Given the description of an element on the screen output the (x, y) to click on. 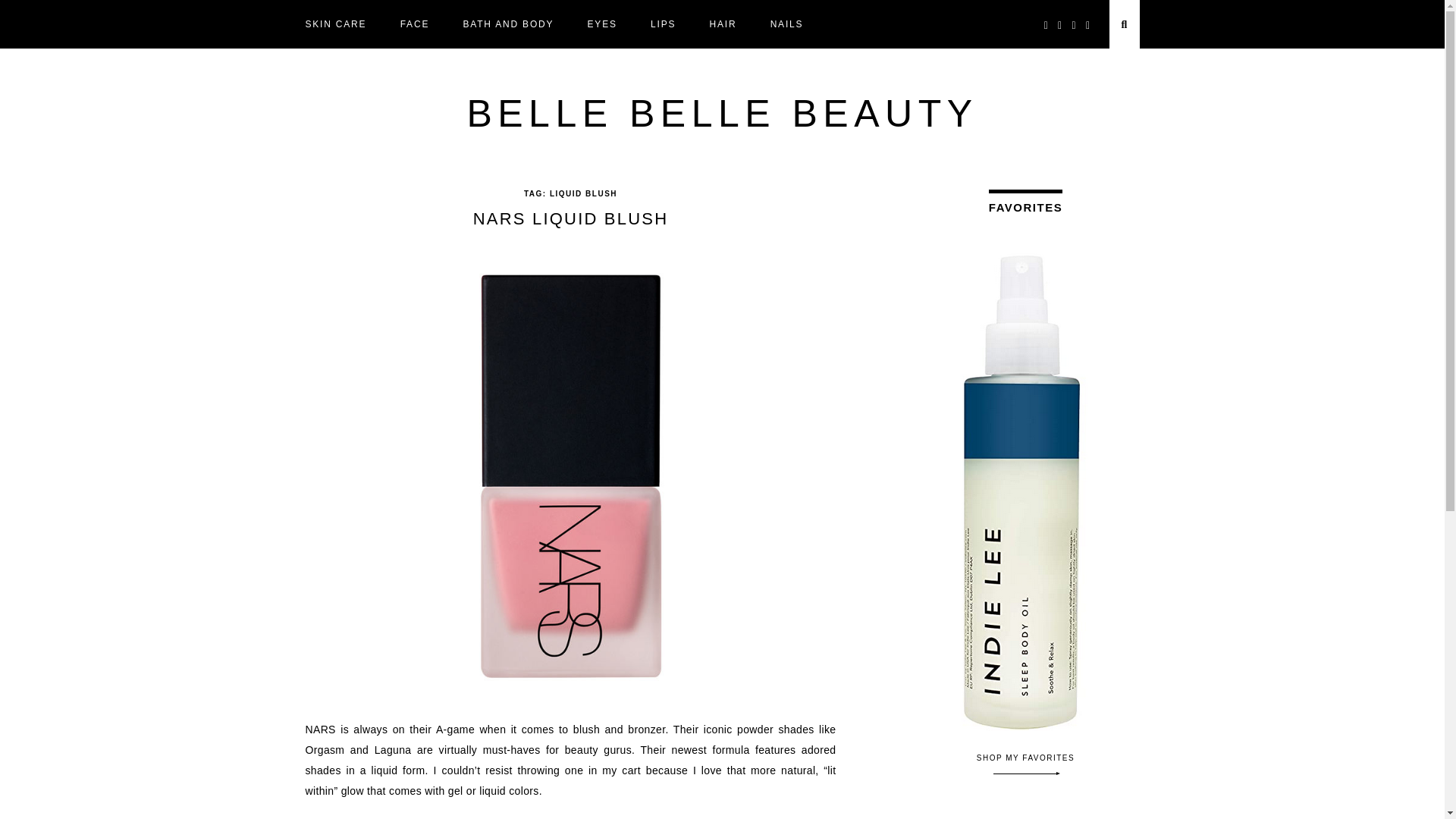
NAILS (786, 23)
BATH AND BODY (508, 23)
EYES (602, 23)
NARS LIQUID BLUSH (570, 218)
LIPS (662, 23)
SHOP MY FAVORITES (1026, 763)
FACE (414, 23)
BELLE BELLE BEAUTY (720, 113)
SKIN CARE (335, 23)
HAIR (723, 23)
